Given the description of an element on the screen output the (x, y) to click on. 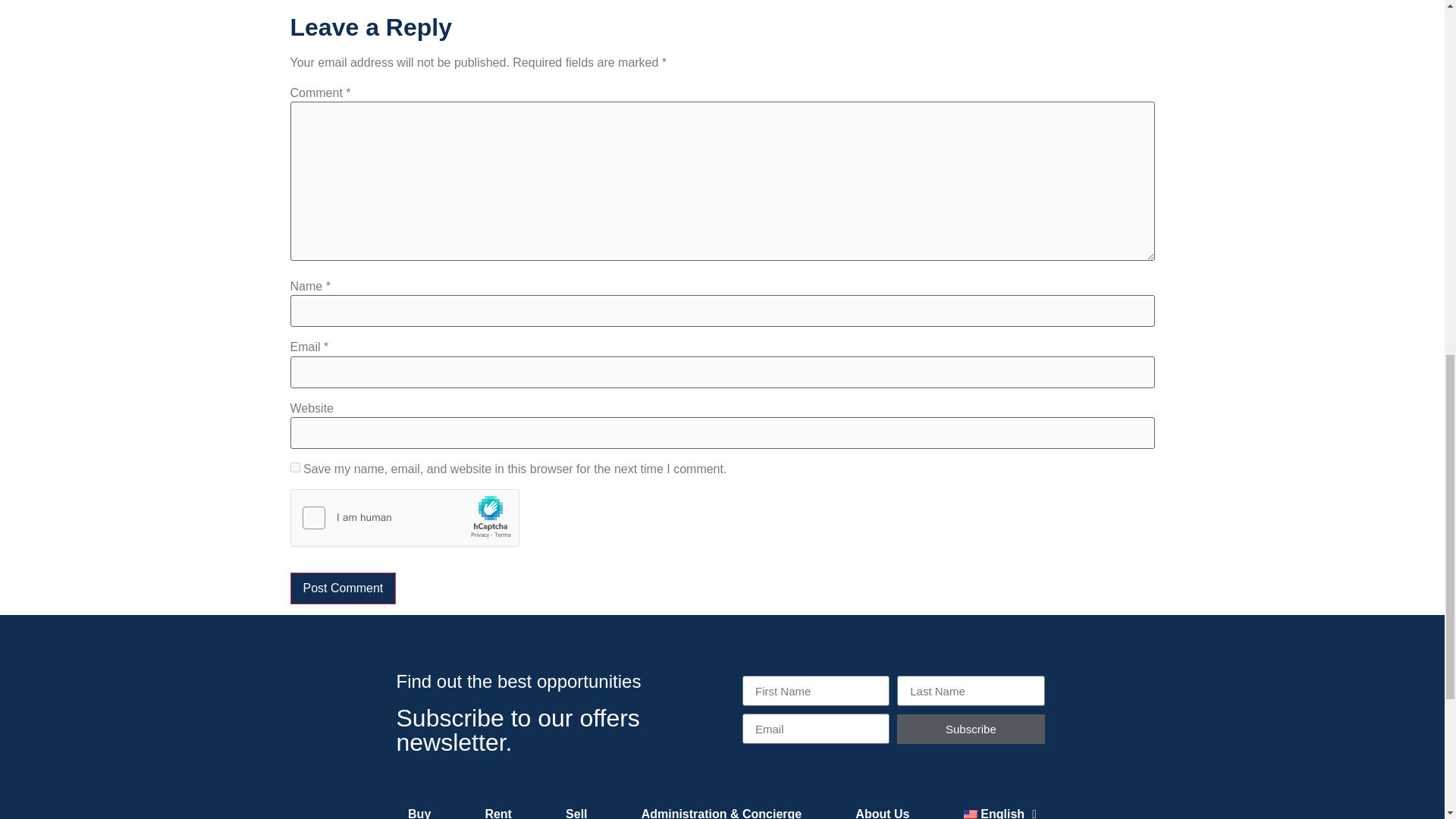
Subscribe (969, 728)
About Us (882, 807)
Post Comment (342, 588)
Widget containing checkbox for hCaptcha security challenge (404, 517)
Post Comment (342, 588)
